Given the description of an element on the screen output the (x, y) to click on. 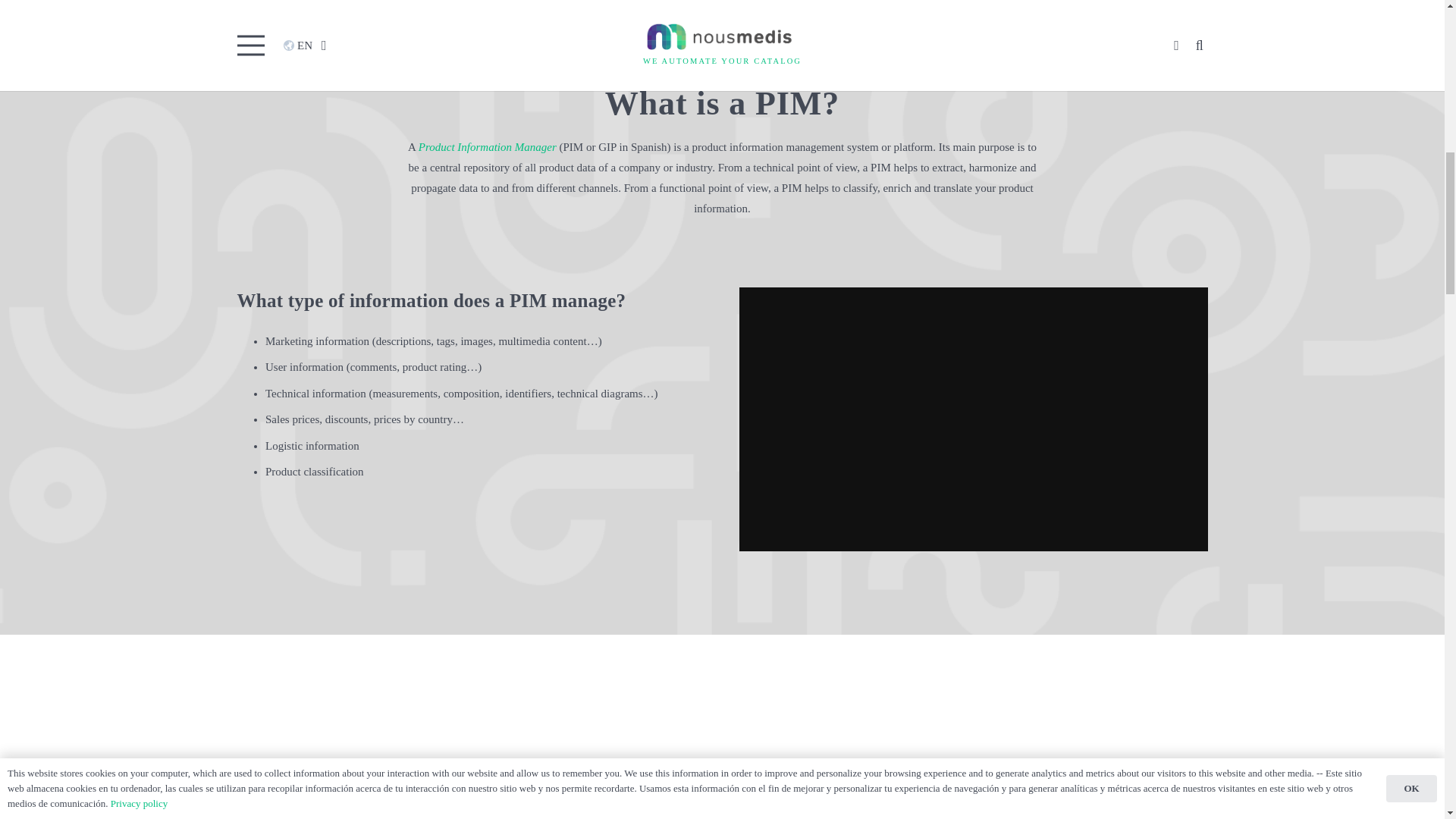
Sales Layer (599, 814)
Product Information Manager (487, 146)
Back to top (1413, 26)
Youtube video player (973, 418)
